Given the description of an element on the screen output the (x, y) to click on. 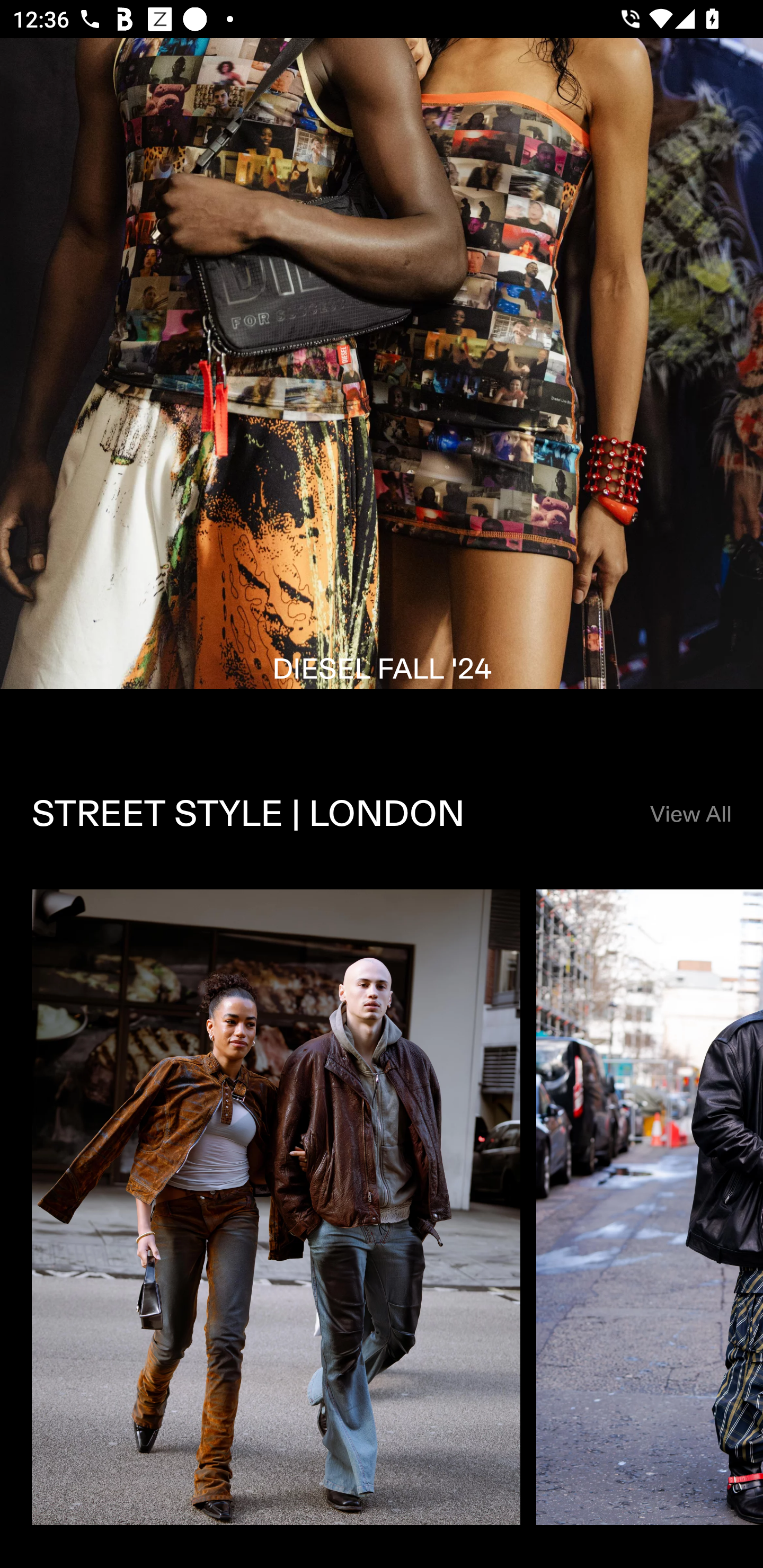
FIRST LOOKS DIESEL FALL '24 (381, 388)
View All (690, 814)
